Given the description of an element on the screen output the (x, y) to click on. 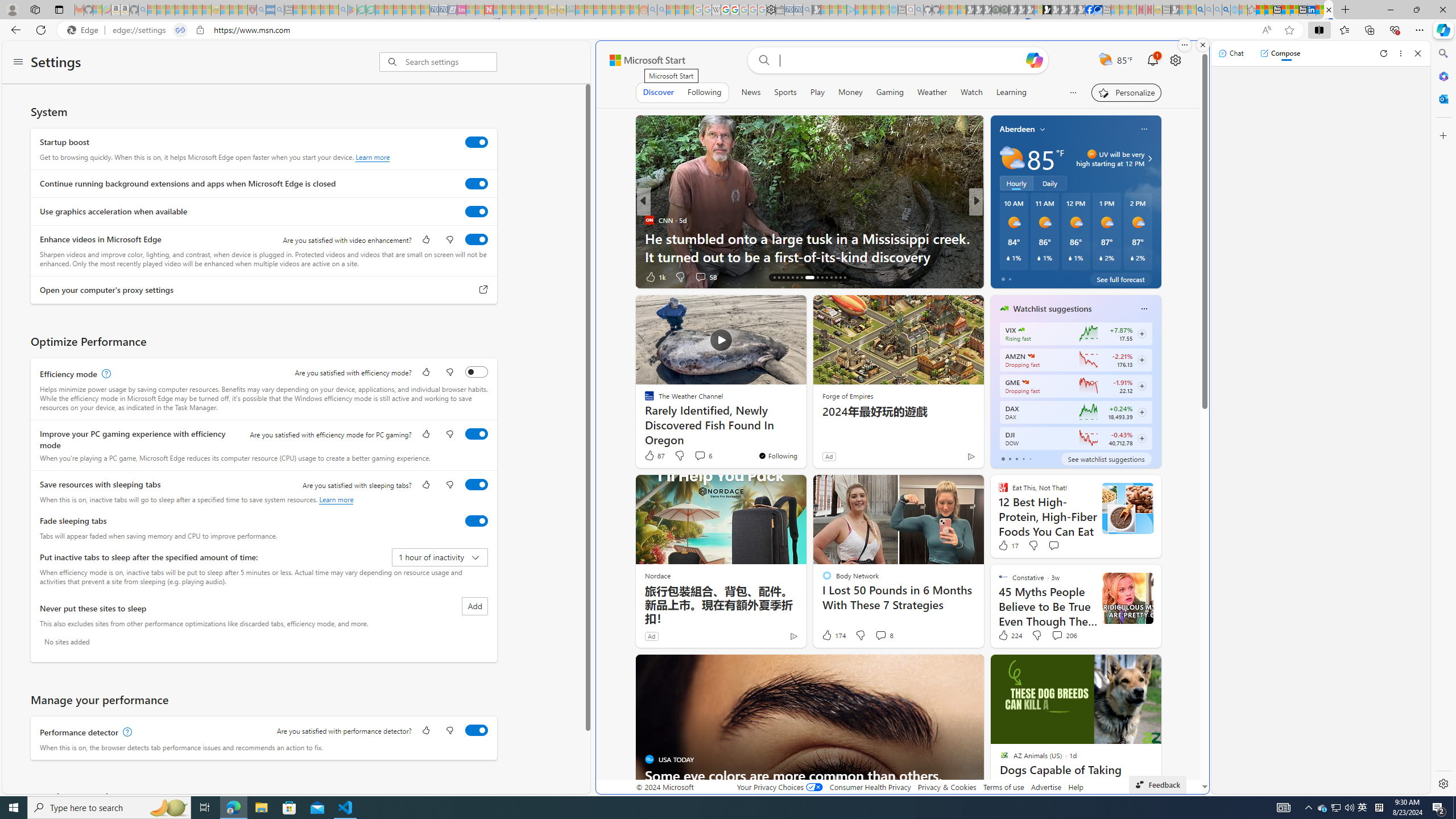
Utah sues federal government - Search - Sleeping (661, 9)
tab-0 (1002, 458)
Future Focus Report 2024 - Sleeping (1004, 9)
You're following The Weather Channel (777, 455)
Bluey: Let's Play! - Apps on Google Play - Sleeping (352, 9)
Gaming (890, 92)
Body Network (999, 238)
Performance detector, learn more (126, 732)
More options. (1183, 45)
Save resources with sleeping tabs (476, 484)
